Given the description of an element on the screen output the (x, y) to click on. 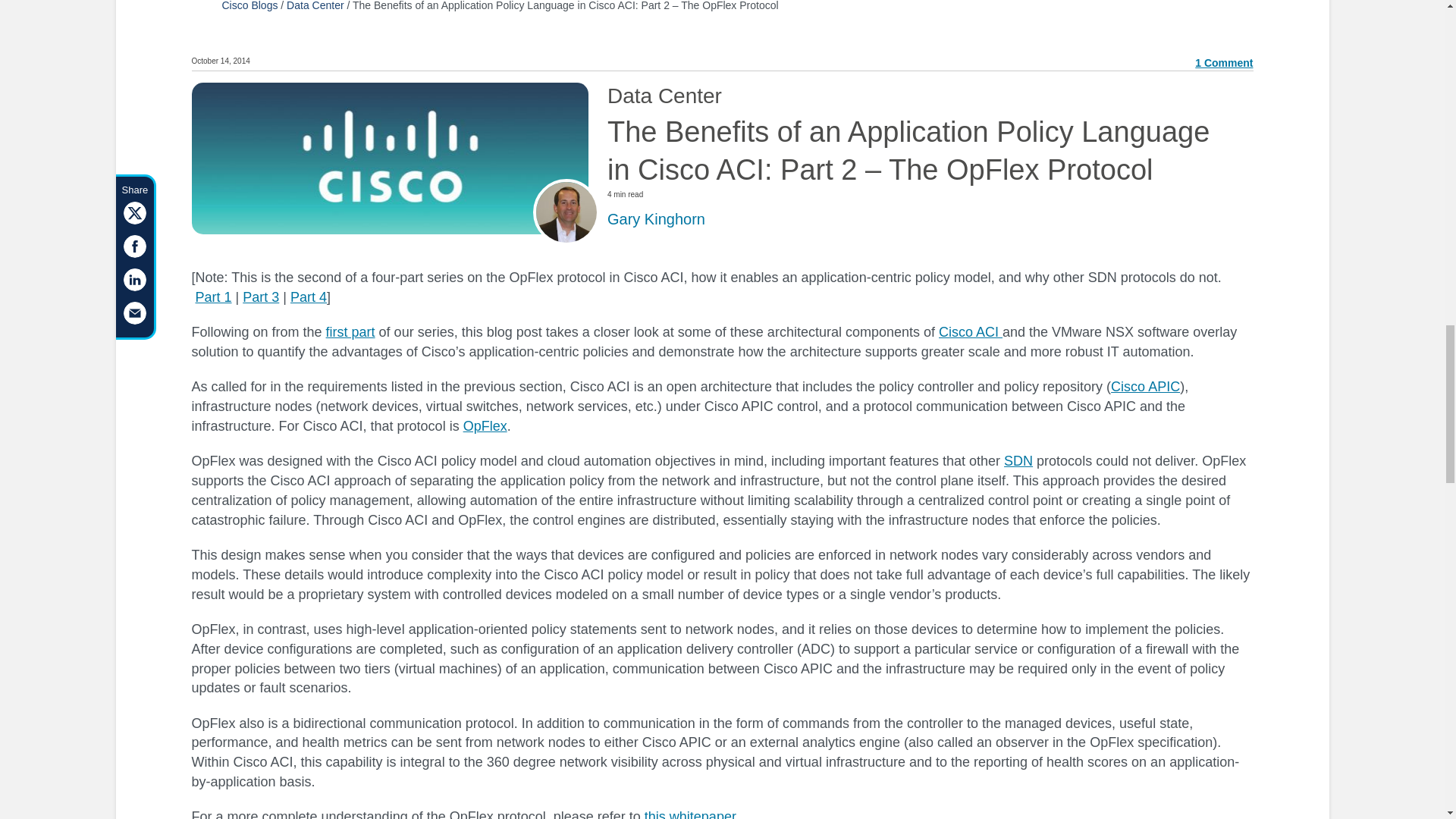
Part 4 (307, 296)
Part 1 (213, 296)
this whitepaper (690, 814)
OpFlex white paper (484, 426)
Cisco APIC (1144, 386)
Cisco APIC (1144, 386)
Posts by Gary Kinghorn (655, 218)
Cisco ACI (971, 331)
Gary Kinghorn (655, 218)
SDN (1018, 460)
SDN (1018, 460)
Part 1 (350, 331)
Cisco Blogs (249, 5)
ACI Policy Language Part 1 (213, 296)
ACI Policy Language - Part 4 (307, 296)
